Given the description of an element on the screen output the (x, y) to click on. 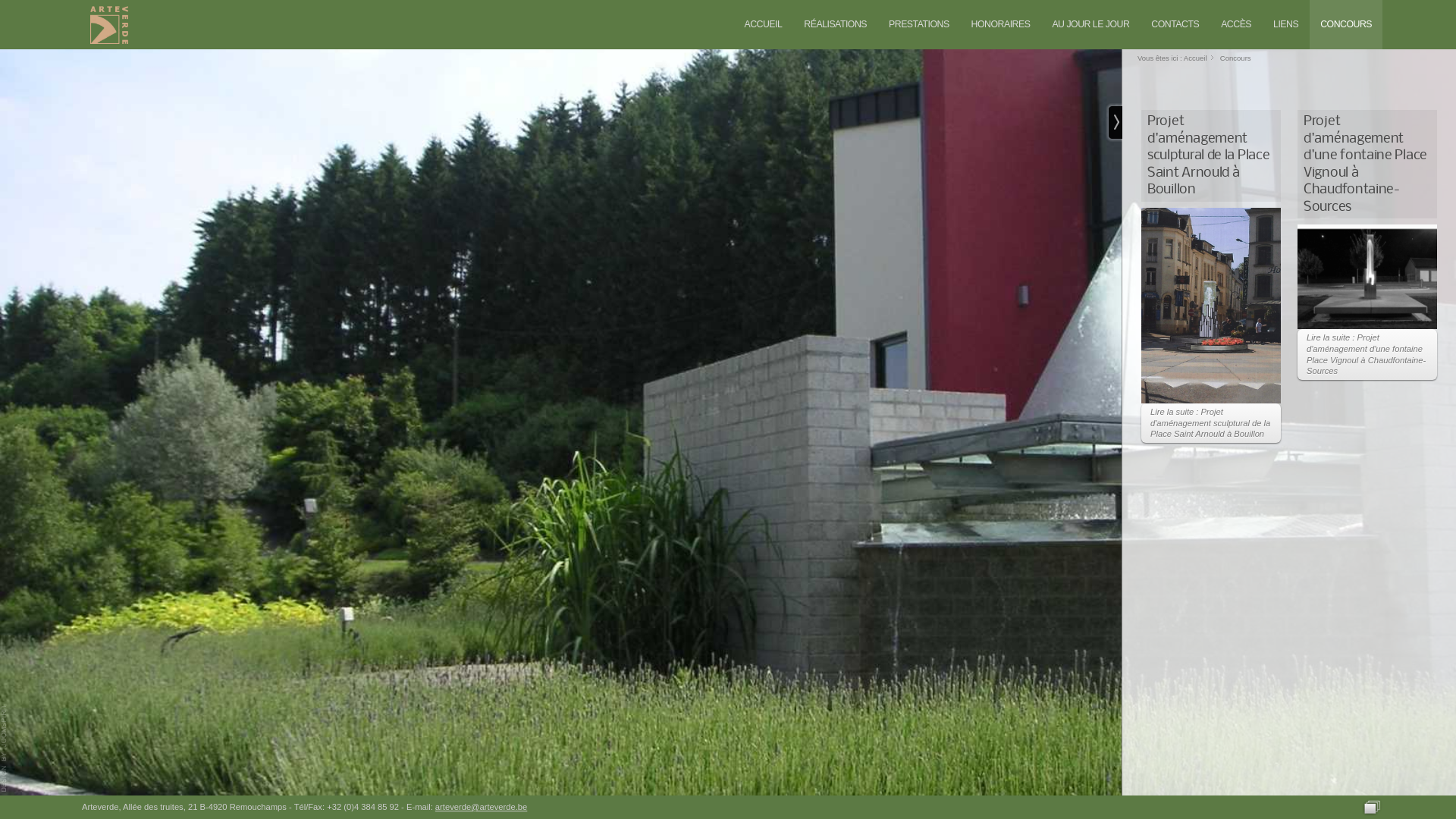
PRESTATIONS Element type: text (919, 24)
arteverde@arteverde.be Element type: text (481, 806)
logo arteverde Element type: hover (109, 24)
CONTACTS Element type: text (1174, 24)
ACCUEIL Element type: text (762, 24)
template joomla by JoomSpirit Element type: text (4, 748)
CONCOURS Element type: text (1345, 24)
AU JOUR LE JOUR Element type: text (1090, 24)
Accueil Element type: text (1195, 57)
HONORAIRES Element type: text (1000, 24)
LIENS Element type: text (1285, 24)
